Given the description of an element on the screen output the (x, y) to click on. 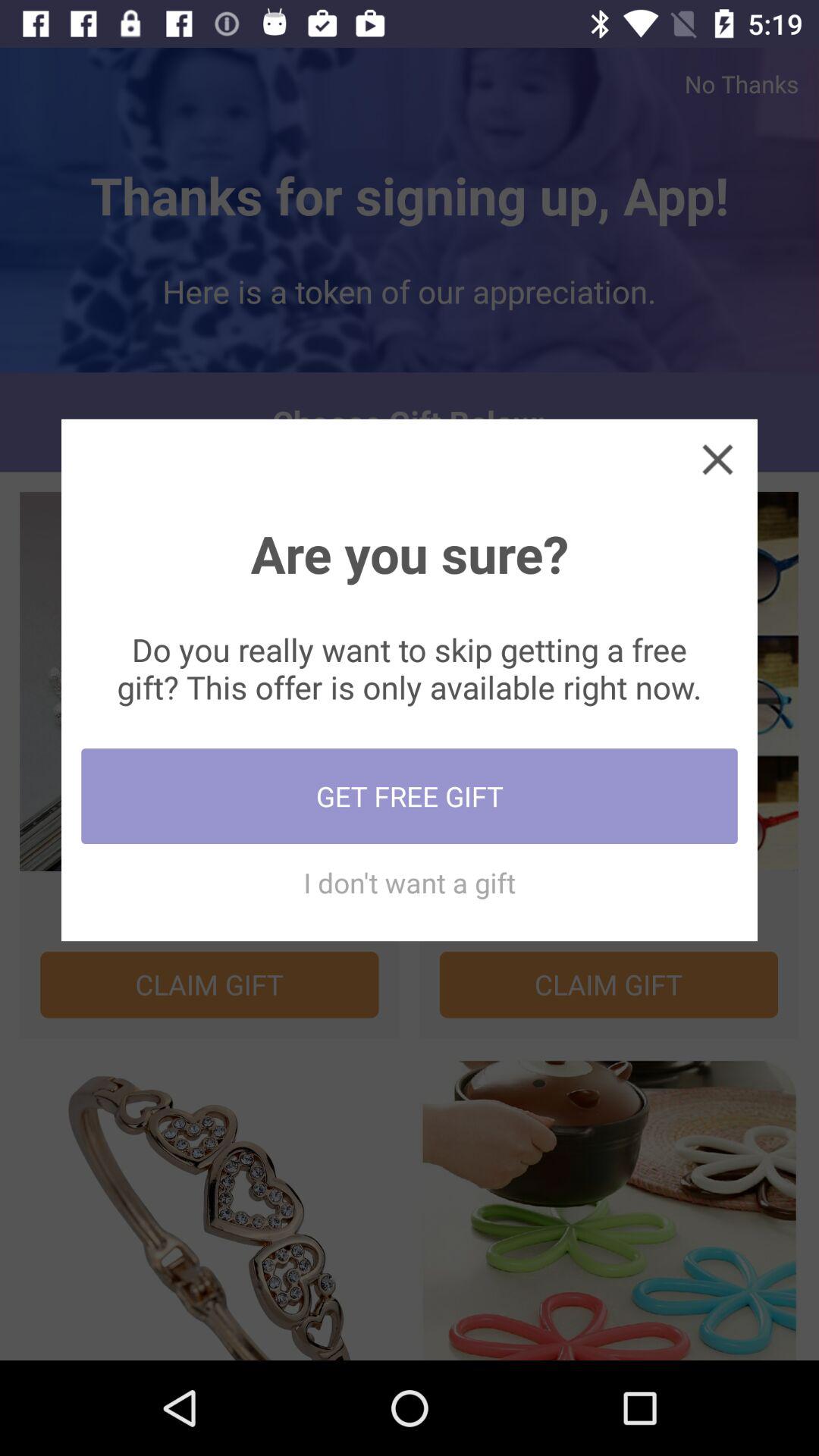
go close (717, 458)
